Given the description of an element on the screen output the (x, y) to click on. 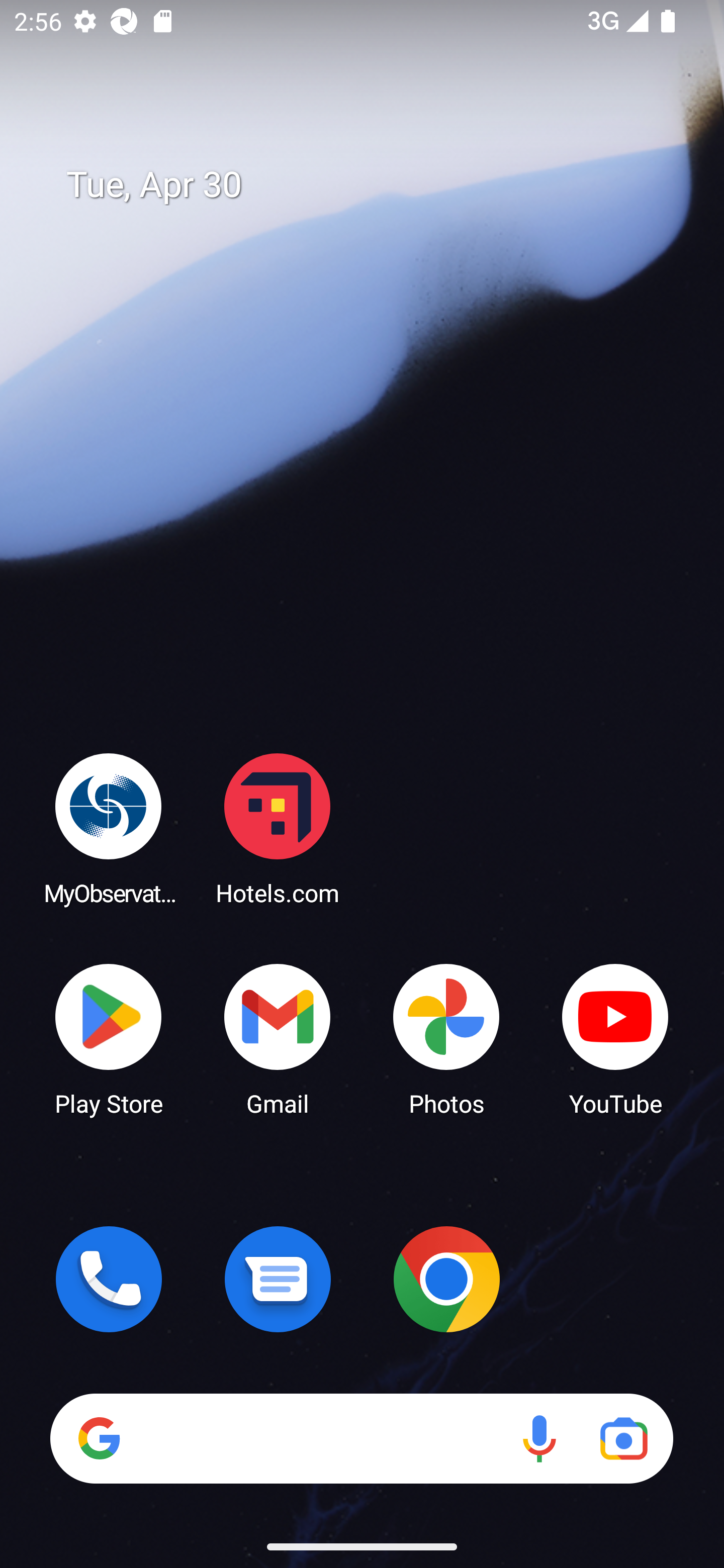
Tue, Apr 30 (375, 184)
MyObservatory (108, 828)
Hotels.com (277, 828)
Play Store (108, 1038)
Gmail (277, 1038)
Photos (445, 1038)
YouTube (615, 1038)
Phone (108, 1279)
Messages (277, 1279)
Chrome (446, 1279)
Search Voice search Google Lens (361, 1438)
Voice search (539, 1438)
Google Lens (623, 1438)
